Given the description of an element on the screen output the (x, y) to click on. 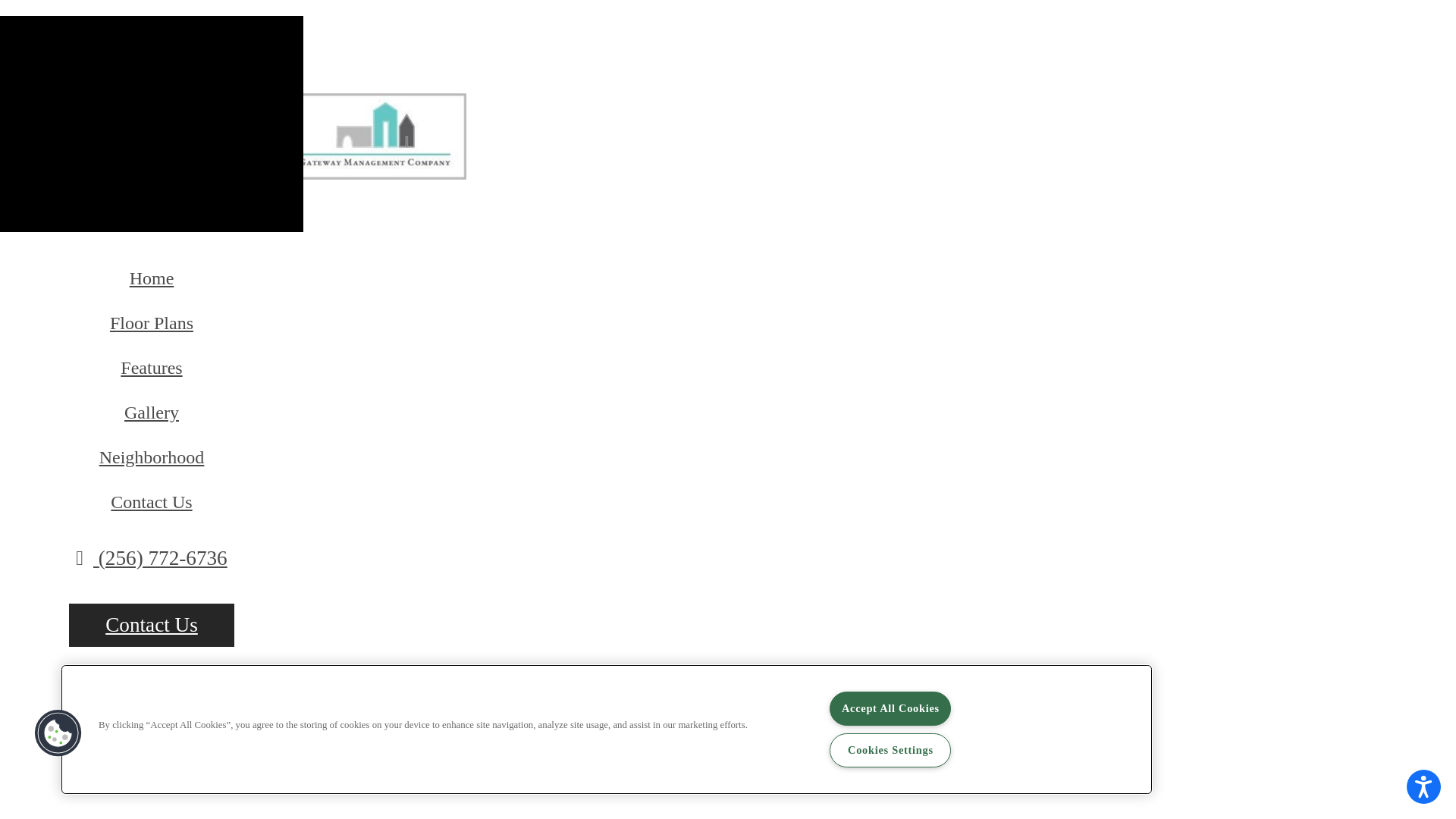
Accept All Cookies Element type: text (889, 708)
IMAGE/SVG+XML Element type: text (1095, 145)
FEATURES Element type: text (661, 131)
HOME Element type: text (486, 131)
Cookies Button Element type: text (58, 733)
NEIGHBORHOOD Element type: text (842, 131)
Gateway Management Company LLC DBA The Gateway Companies Inc Element type: hover (360, 137)
Gallery Element type: text (151, 412)
PRIVACY Element type: text (1076, 176)
(256) 772-6736 Element type: text (151, 558)
HUD Element type: hover (1112, 106)
Contact Us Element type: text (151, 502)
Home Element type: text (151, 278)
Floor Plans Element type: text (151, 323)
Cookies Settings Element type: text (889, 750)
CONTACT US Element type: text (950, 131)
Neighborhood Element type: text (151, 457)
Features Element type: text (151, 367)
SITEMAP Element type: text (1142, 176)
Lease Now Element type: text (151, 692)
ADA Element type: hover (1156, 106)
GALLERY Element type: text (743, 131)
Contact Us Element type: text (151, 624)
Close Element type: text (19, 21)
FLOOR PLANS Element type: text (568, 131)
